Given the description of an element on the screen output the (x, y) to click on. 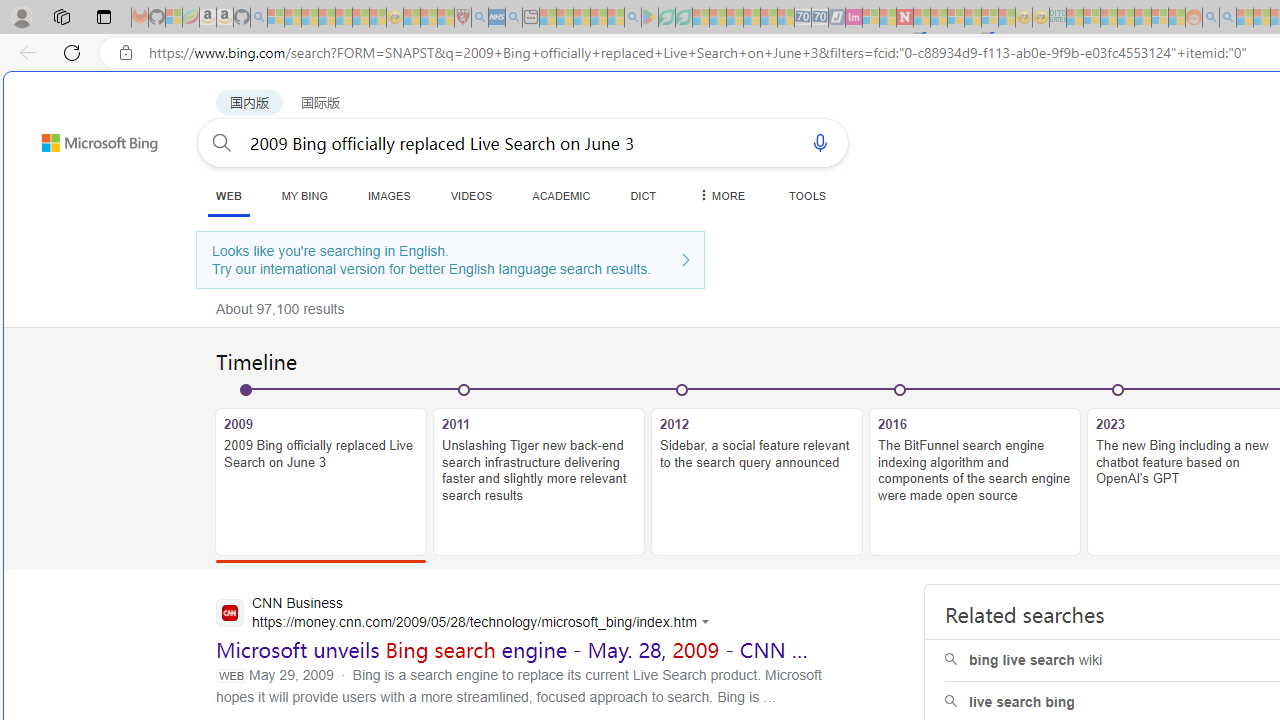
Terms of Use Agreement - Sleeping (666, 17)
